Given the description of an element on the screen output the (x, y) to click on. 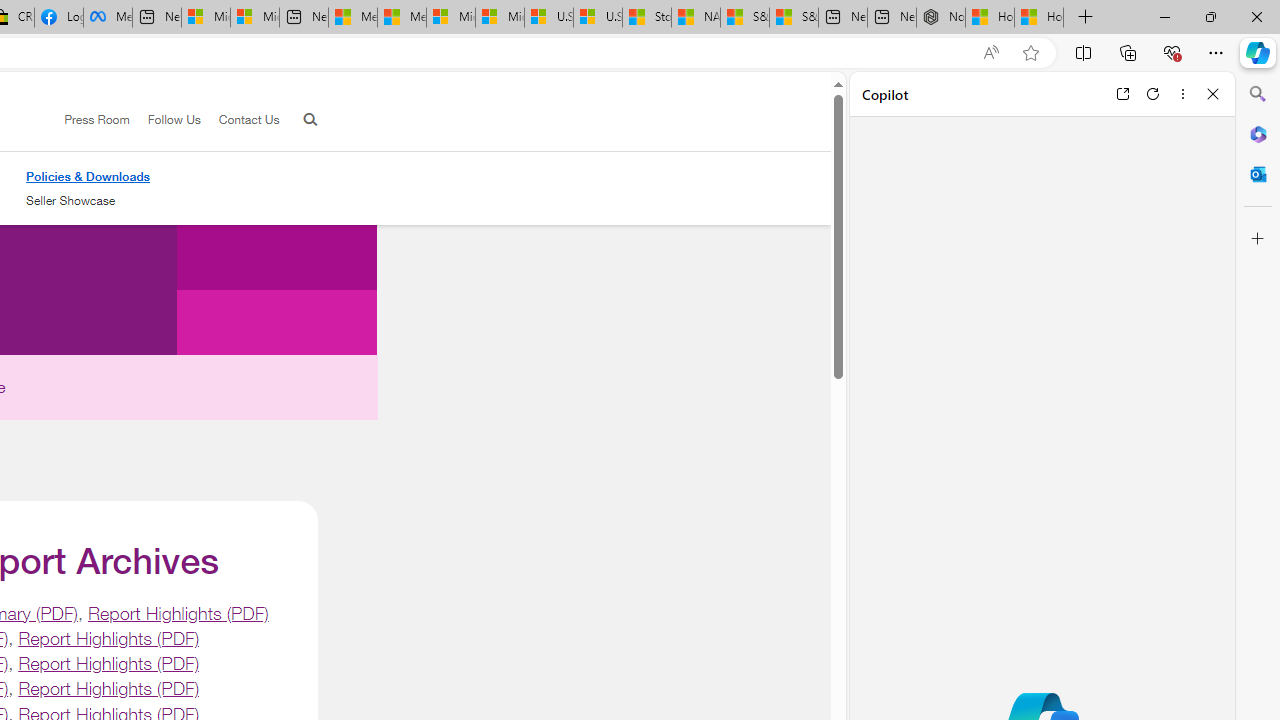
Customize (1258, 239)
Seller Showcase (88, 201)
Open link in new tab (1122, 93)
Follow Us (164, 120)
Seller Showcase (70, 200)
Policies & Downloads (88, 176)
Outlook (1258, 174)
